Given the description of an element on the screen output the (x, y) to click on. 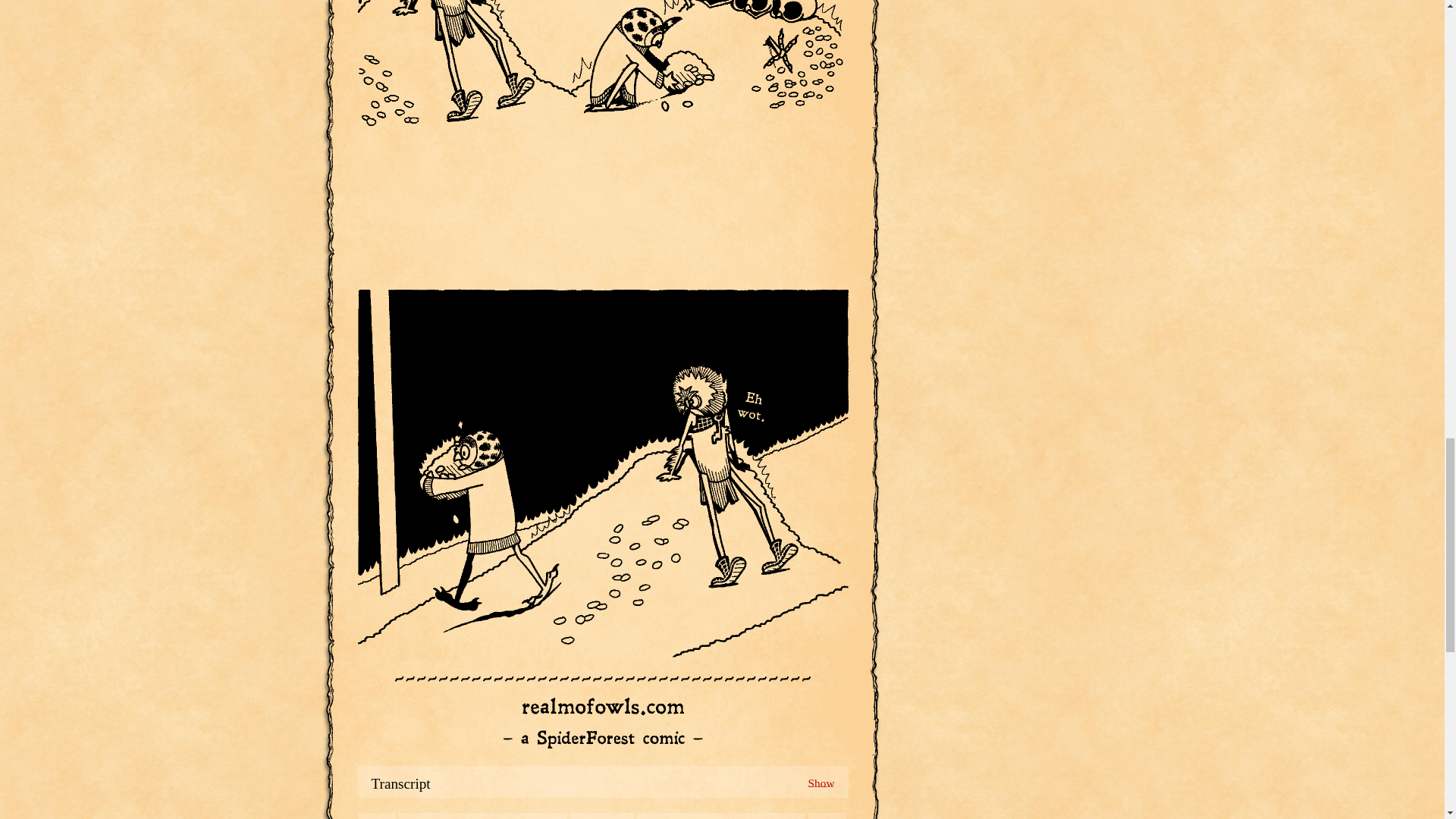
Previous comic (482, 816)
All comics (601, 816)
Next comic (721, 816)
Next (721, 816)
All (601, 816)
First comic (377, 816)
Previous (482, 816)
First (377, 816)
